Given the description of an element on the screen output the (x, y) to click on. 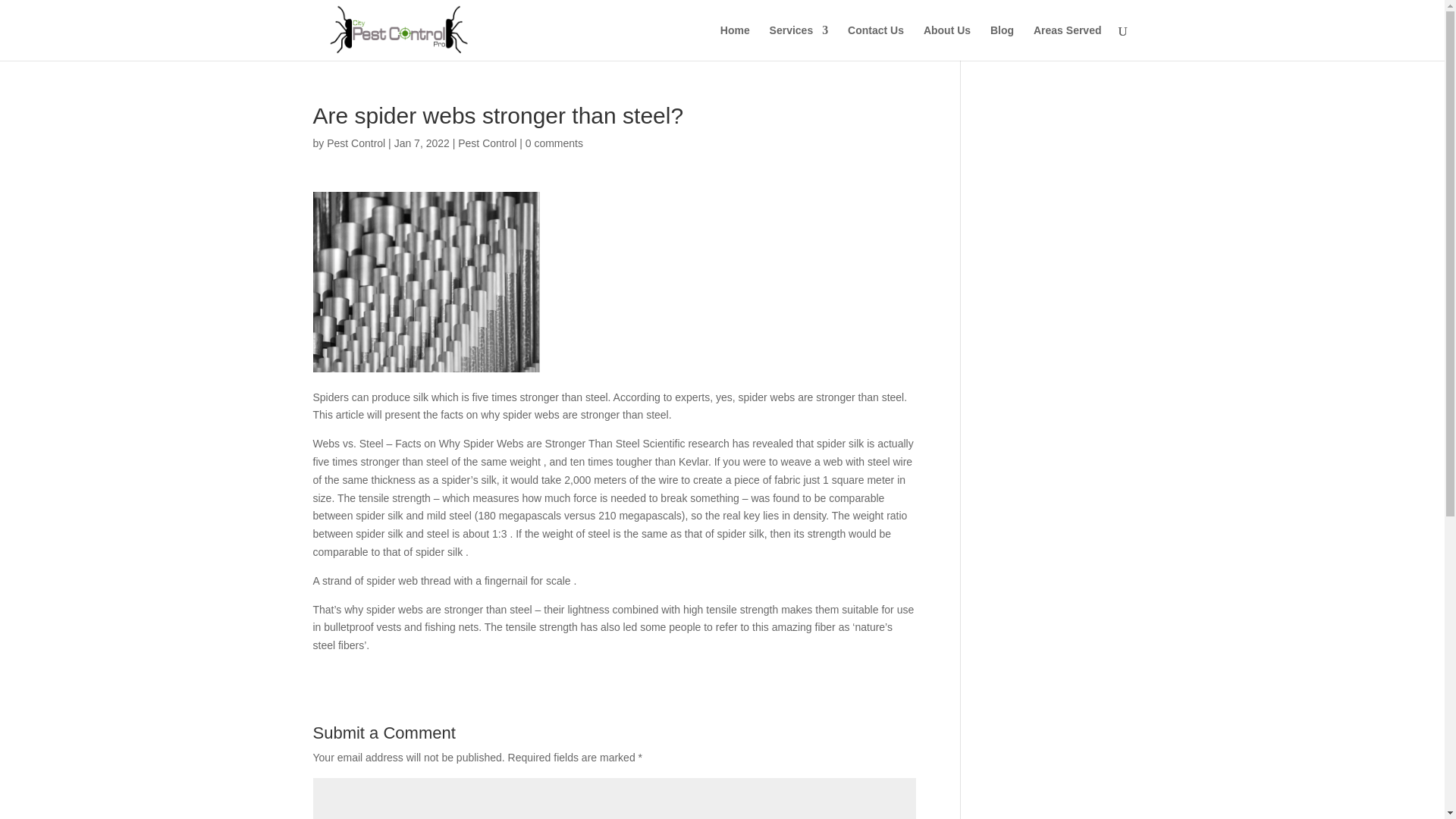
About Us (947, 42)
Pest Control (487, 143)
Contact Us (875, 42)
Services (799, 42)
0 comments (554, 143)
Pest Control (355, 143)
Posts by Pest Control (355, 143)
Areas Served (1067, 42)
